Given the description of an element on the screen output the (x, y) to click on. 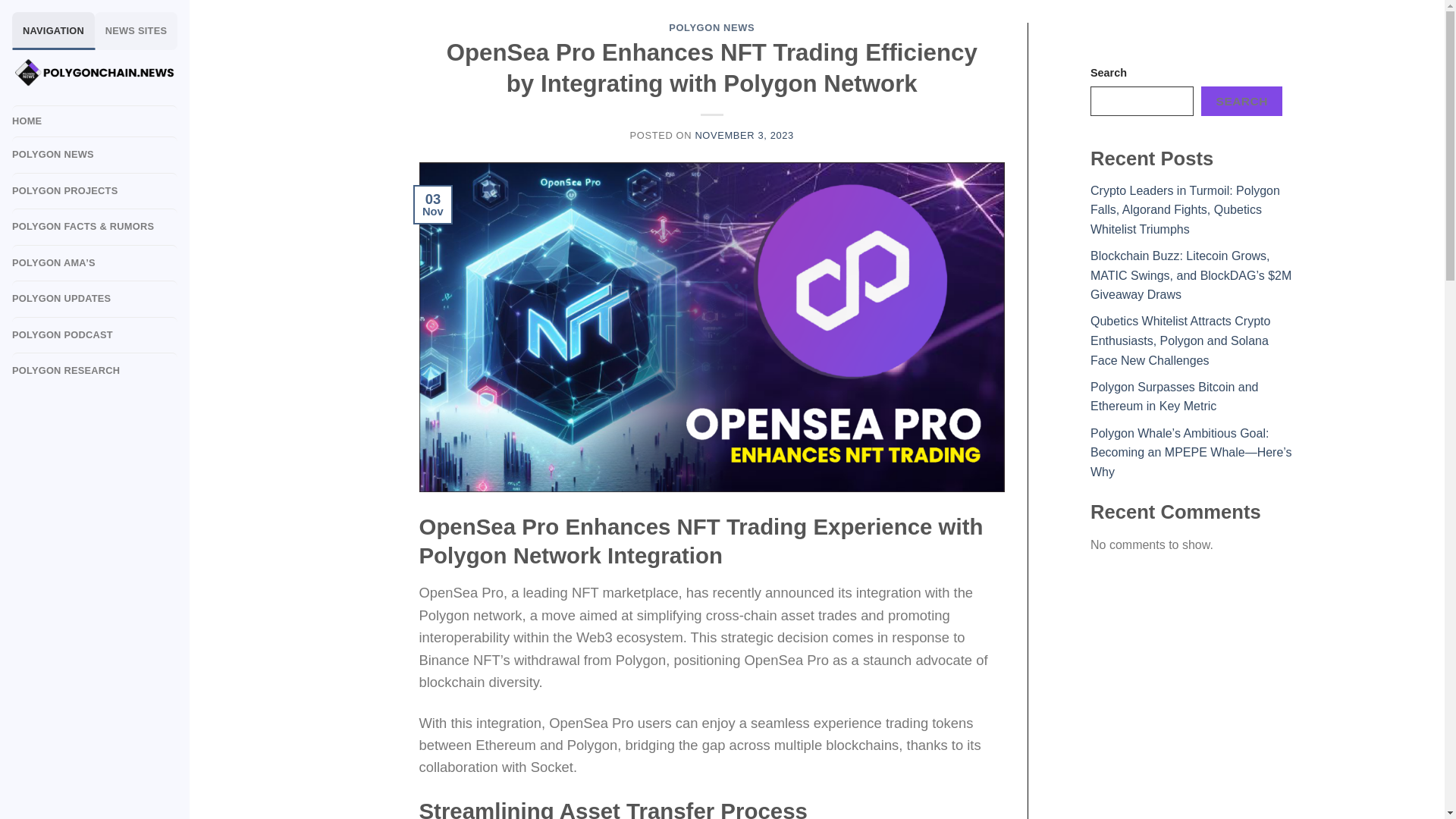
Polygonchain News - Polygon Blockchain News Network (94, 72)
NAVIGATION (52, 30)
SEARCH (1241, 101)
Polygon Surpasses Bitcoin and Ethereum in Key Metric (1173, 396)
NEWS SITES (135, 30)
POLYGON NEWS (711, 27)
NOVEMBER 3, 2023 (743, 134)
